Given the description of an element on the screen output the (x, y) to click on. 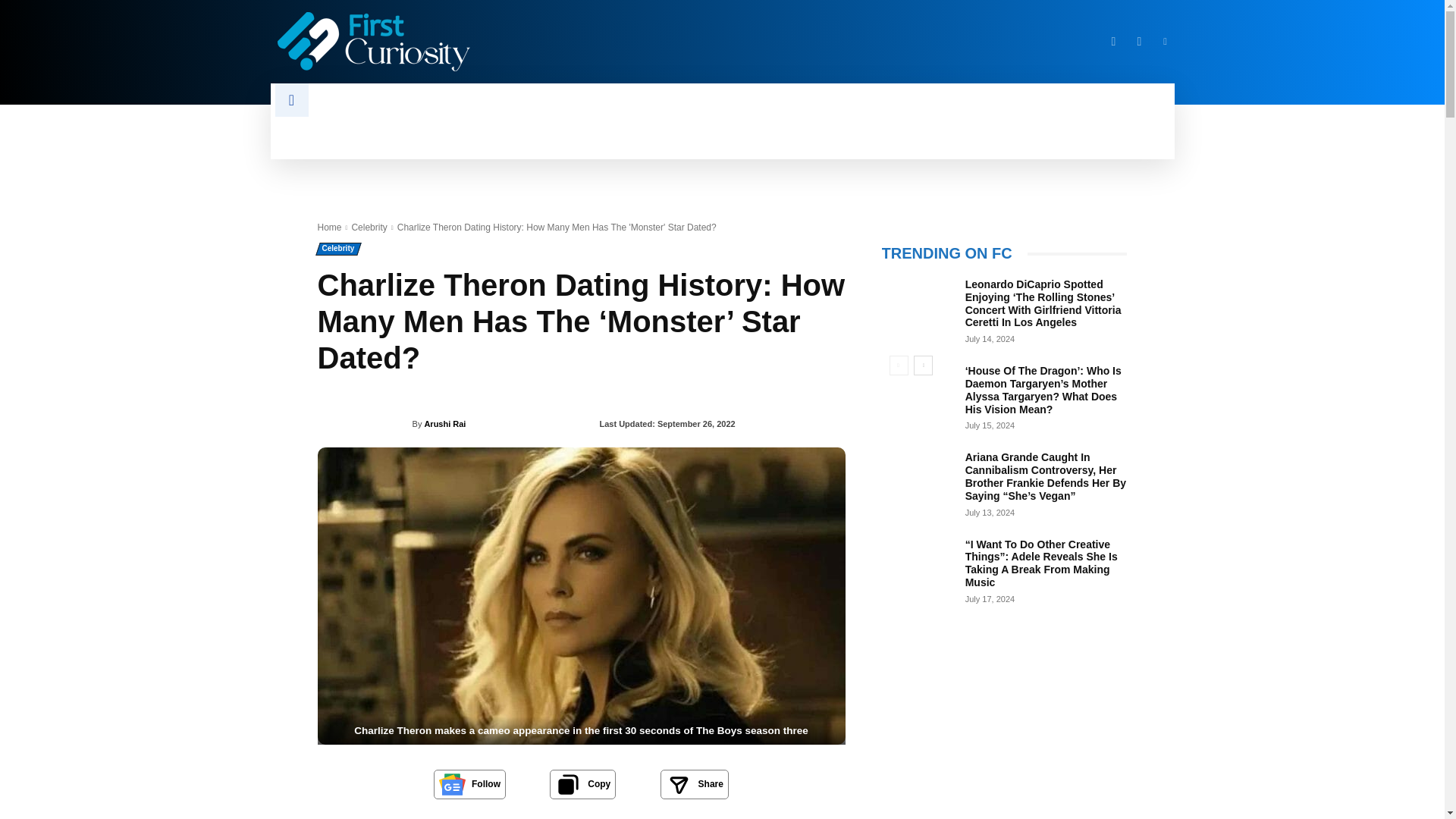
Linkedin (1164, 41)
Facebook (1112, 41)
Twitter (1138, 41)
